Given the description of an element on the screen output the (x, y) to click on. 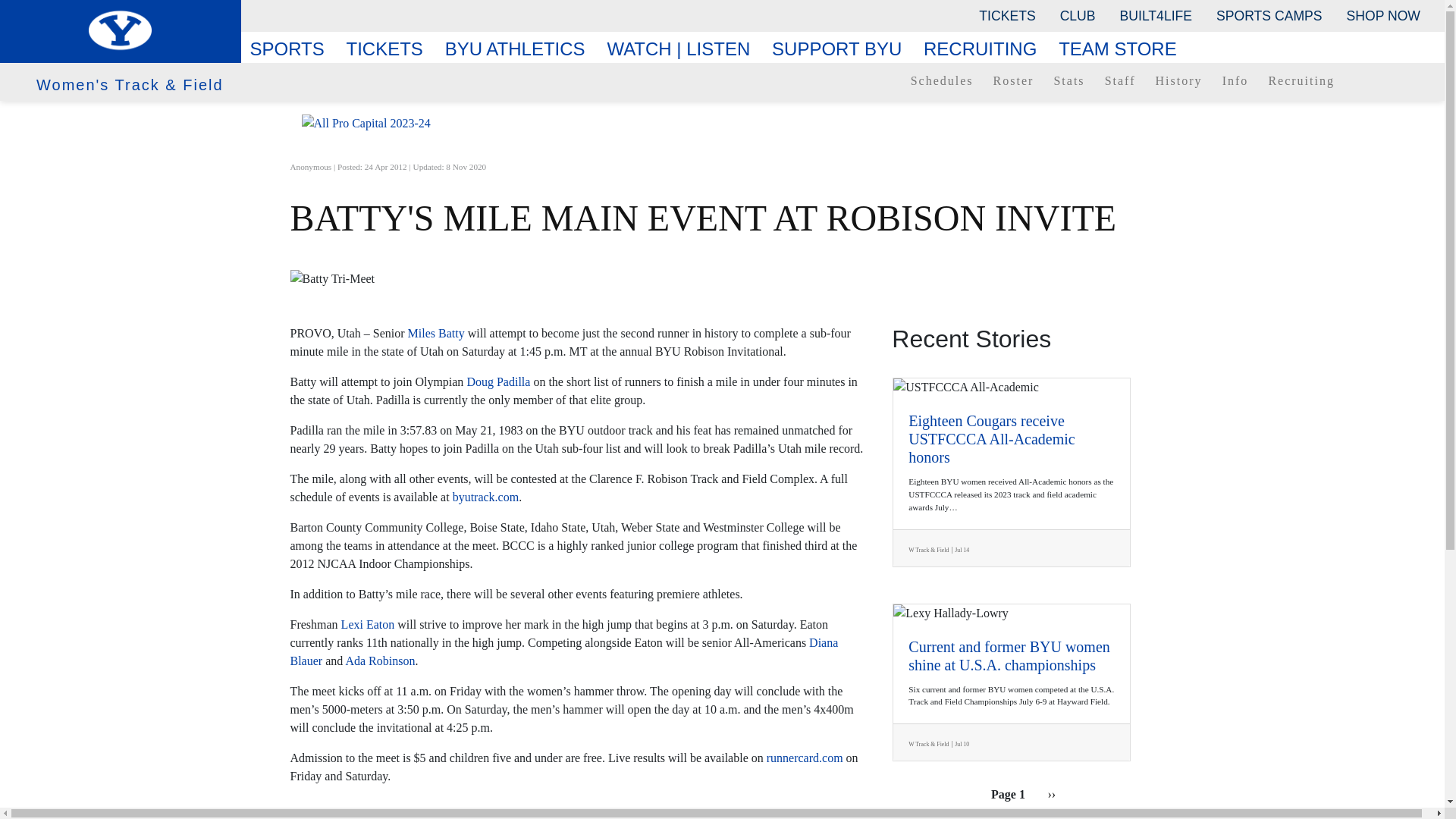
Batty Tri-Meet (721, 279)
BUILT4LIFE (1156, 15)
SPORTS (292, 49)
CLUB (1078, 15)
Go to next page (1051, 793)
TICKETS (1006, 15)
SPORTS CAMPS (1268, 15)
SHOP NOW (1383, 15)
